Given the description of an element on the screen output the (x, y) to click on. 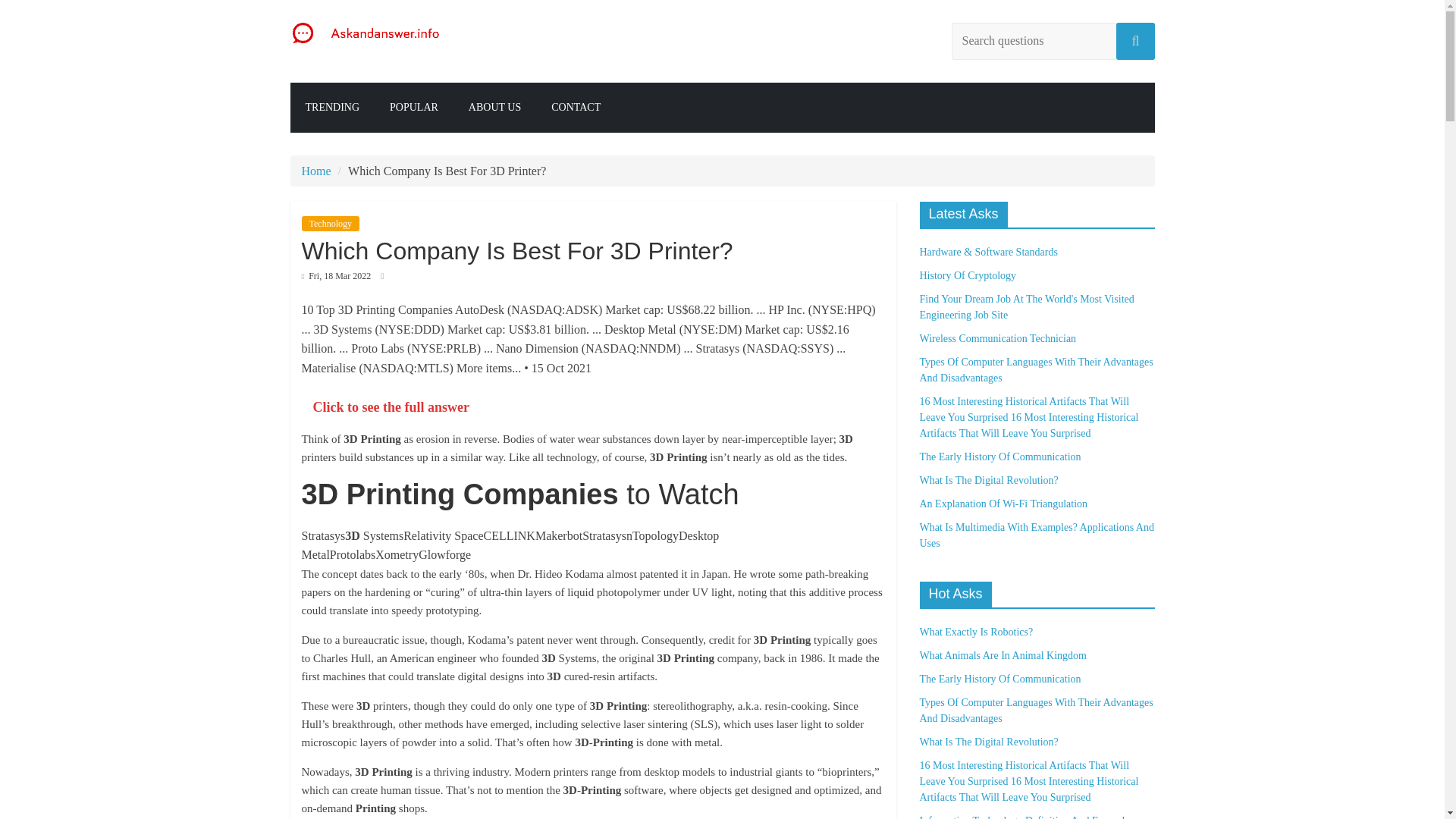
What Is Multimedia With Examples? Applications And Uses (1035, 534)
ABOUT US (493, 107)
Home (316, 170)
Technology (330, 223)
Click to see the full answer (390, 406)
What Animals Are In Animal Kingdom (1002, 655)
Wireless Communication Technician (996, 337)
What Is The Digital Revolution? (988, 480)
